Given the description of an element on the screen output the (x, y) to click on. 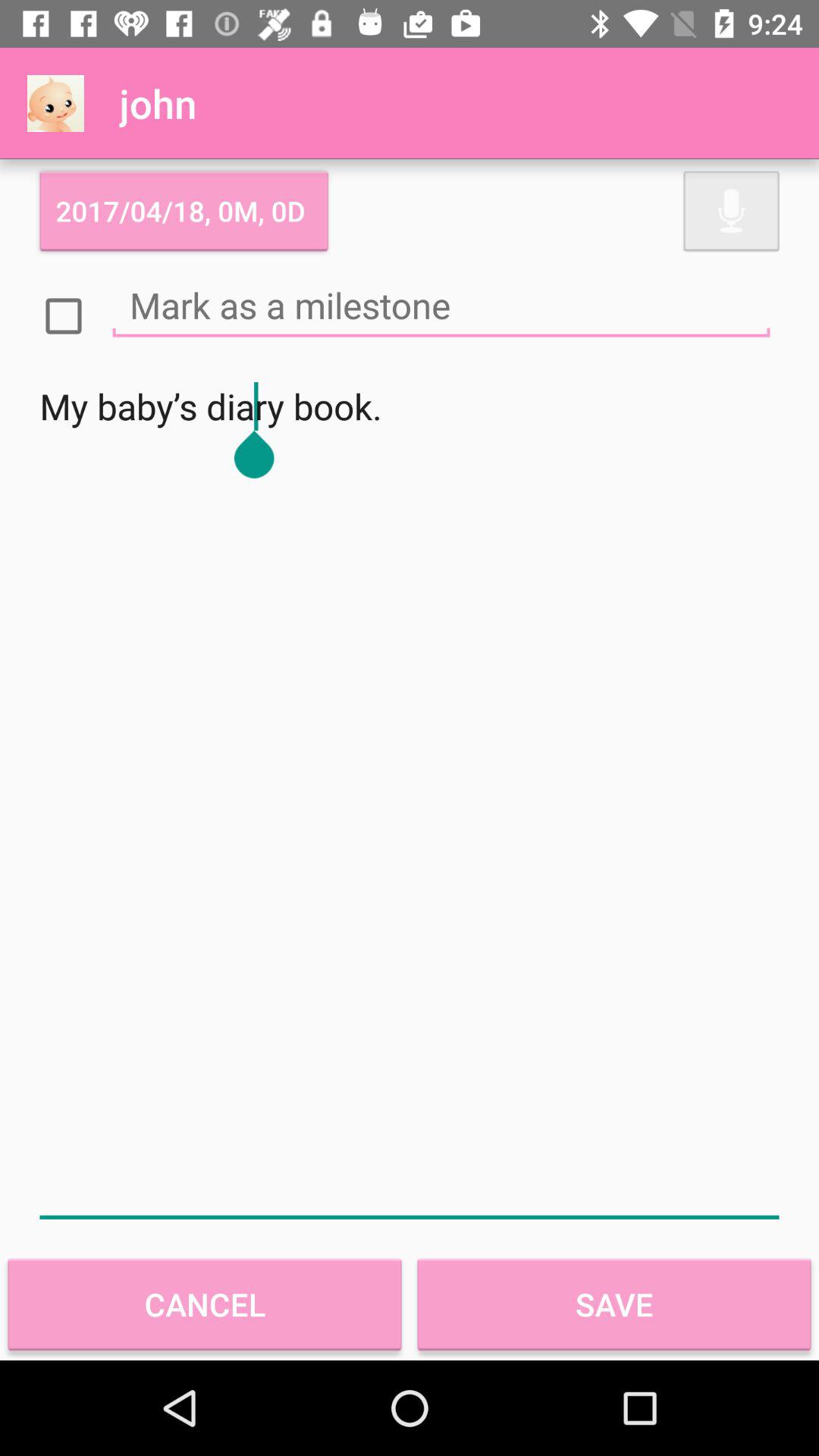
scroll until cancel (204, 1304)
